Given the description of an element on the screen output the (x, y) to click on. 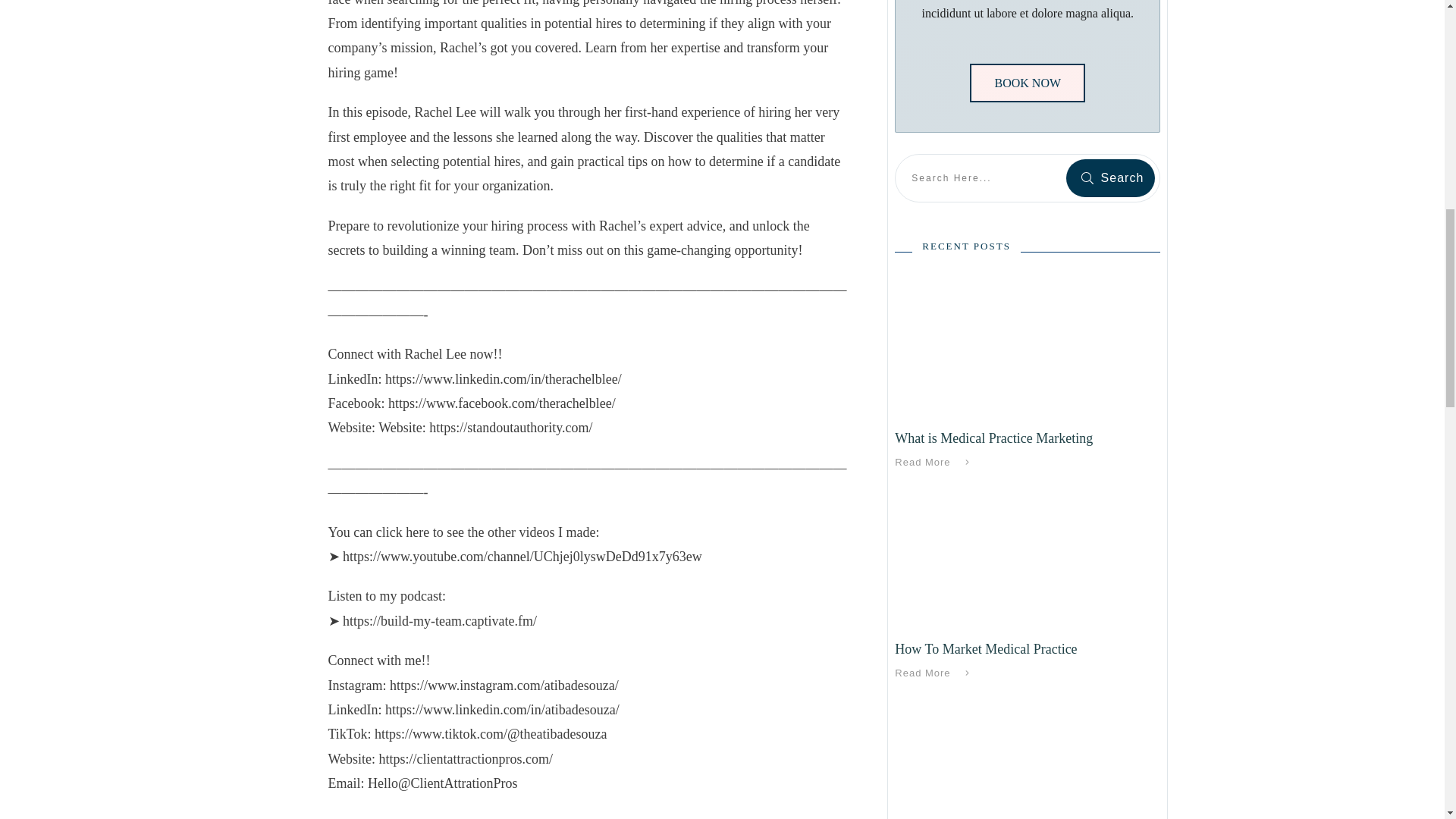
Search (1110, 177)
How To Market Medical Practice (986, 648)
How To Market Medical Practice (986, 648)
Read More (935, 462)
What is Medical Practice Marketing (994, 437)
What is Medical Practice Marketing (994, 437)
BOOK NOW (1026, 82)
Read More (935, 672)
